Given the description of an element on the screen output the (x, y) to click on. 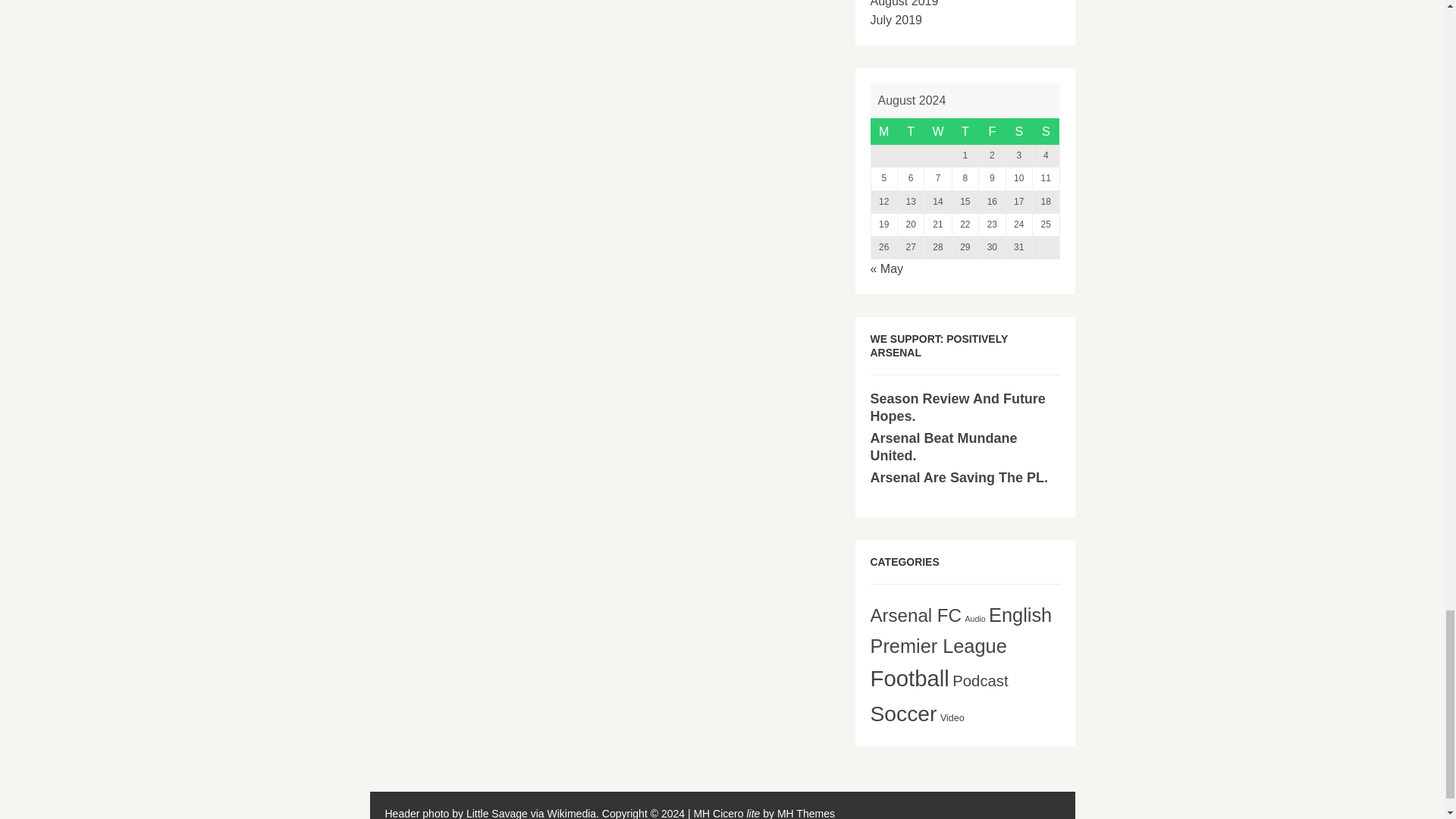
Thursday (965, 131)
Saturday (1019, 131)
Wednesday (938, 131)
Sunday (1045, 131)
Monday (883, 131)
Tuesday (909, 131)
Friday (992, 131)
